Given the description of an element on the screen output the (x, y) to click on. 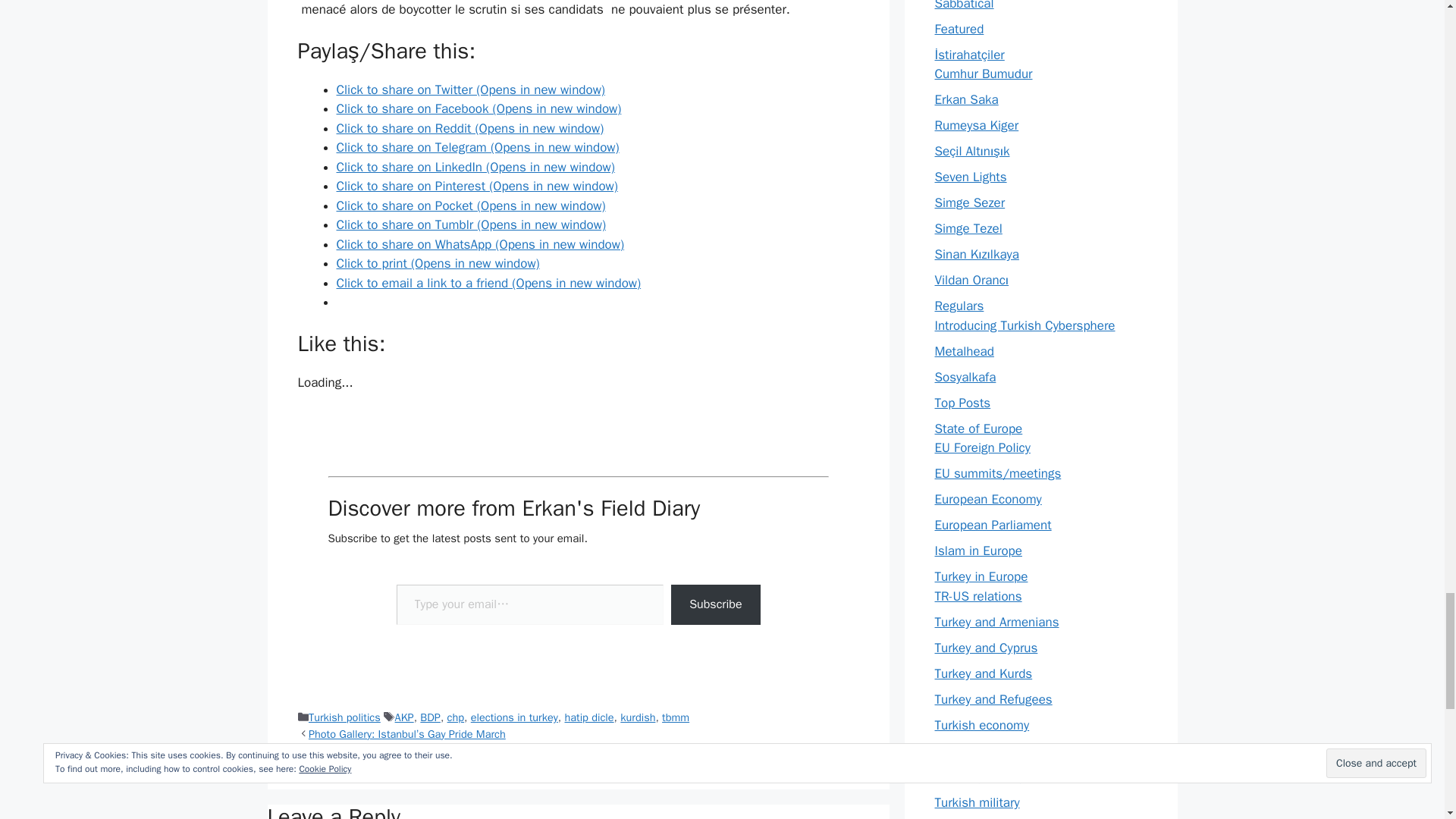
Click to share on Pocket (470, 205)
Click to share on Tumblr (470, 224)
Click to print (438, 263)
Click to share on Twitter (470, 89)
Click to share on Reddit (470, 128)
Click to share on LinkedIn (475, 166)
Click to share on Telegram (478, 147)
Click to share on Pinterest (476, 186)
Click to share on WhatsApp (480, 244)
Click to email a link to a friend (489, 283)
